Given the description of an element on the screen output the (x, y) to click on. 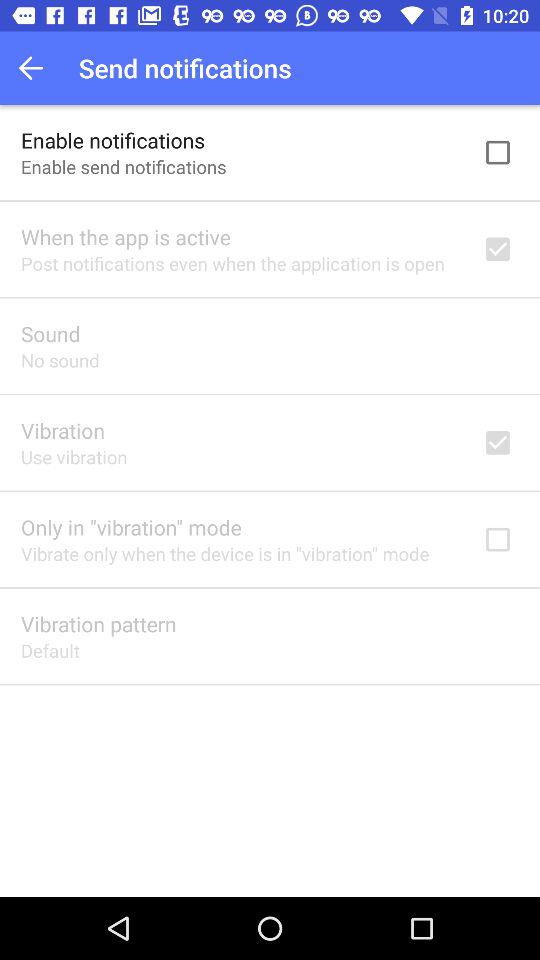
turn on the app above enable notifications item (36, 68)
